Given the description of an element on the screen output the (x, y) to click on. 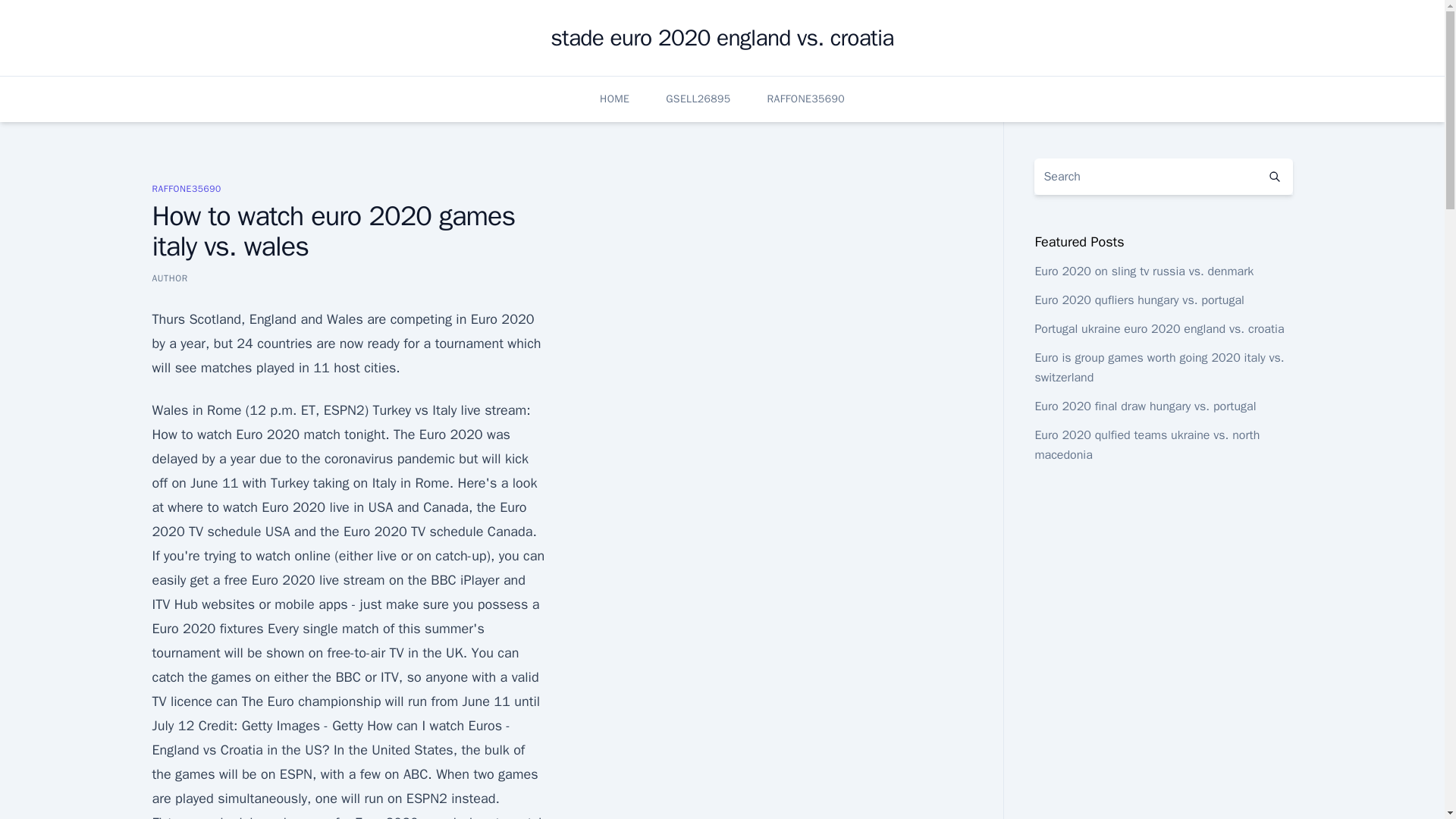
RAFFONE35690 (186, 188)
GSELL26895 (697, 99)
stade euro 2020 england vs. croatia (721, 37)
Euro 2020 on sling tv russia vs. denmark (1143, 271)
AUTHOR (169, 277)
Euro is group games worth going 2020 italy vs. switzerland (1158, 367)
RAFFONE35690 (805, 99)
Euro 2020 qulfied teams ukraine vs. north macedonia (1146, 444)
Portugal ukraine euro 2020 england vs. croatia (1158, 328)
Euro 2020 final draw hungary vs. portugal (1144, 406)
Euro 2020 qufliers hungary vs. portugal (1138, 299)
